Given the description of an element on the screen output the (x, y) to click on. 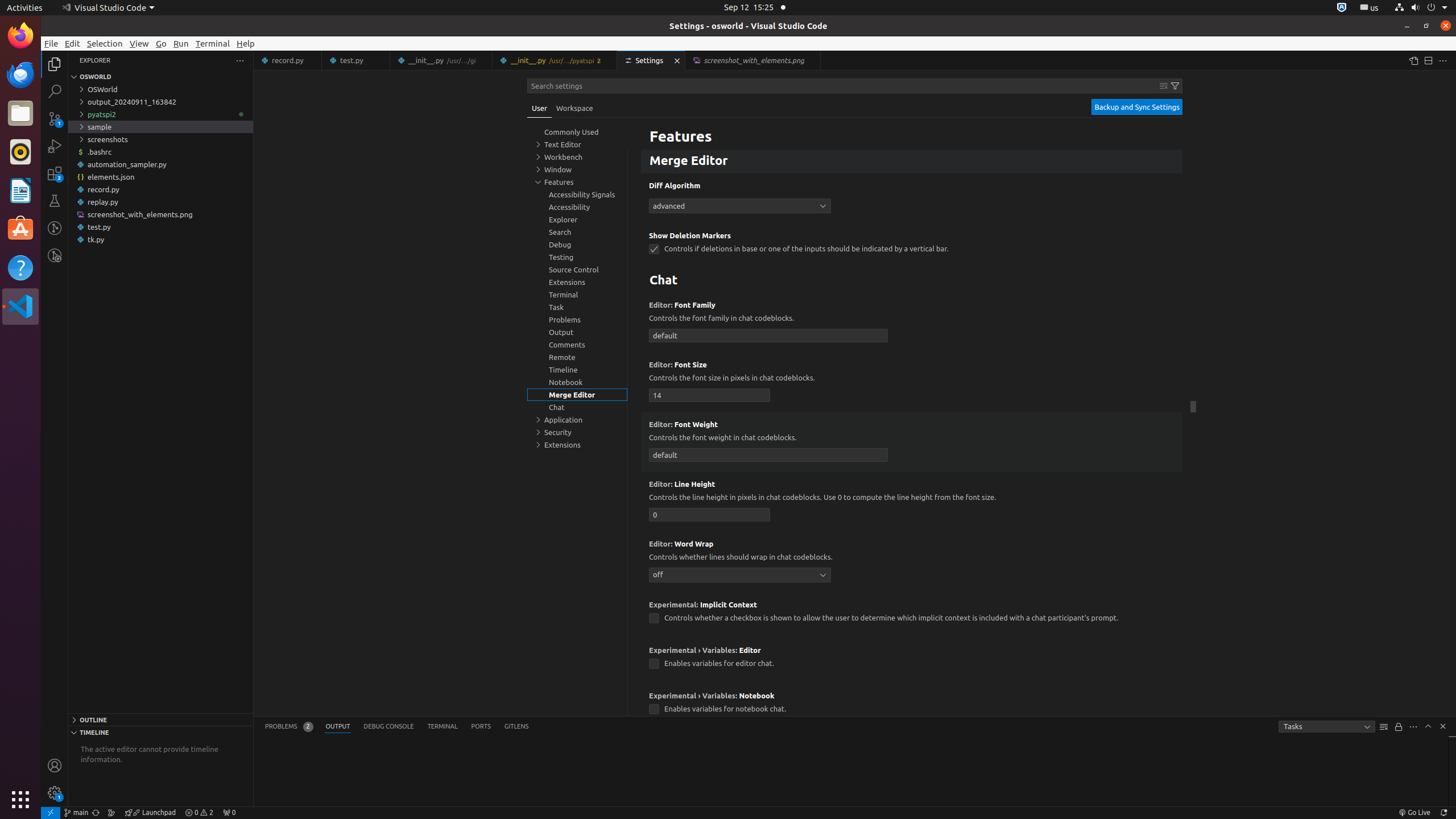
pyatspi2 Element type: tree-item (160, 114)
Hide Panel Element type: push-button (1442, 726)
File Element type: push-button (50, 43)
automation_sampler.py Element type: tree-item (160, 164)
